Given the description of an element on the screen output the (x, y) to click on. 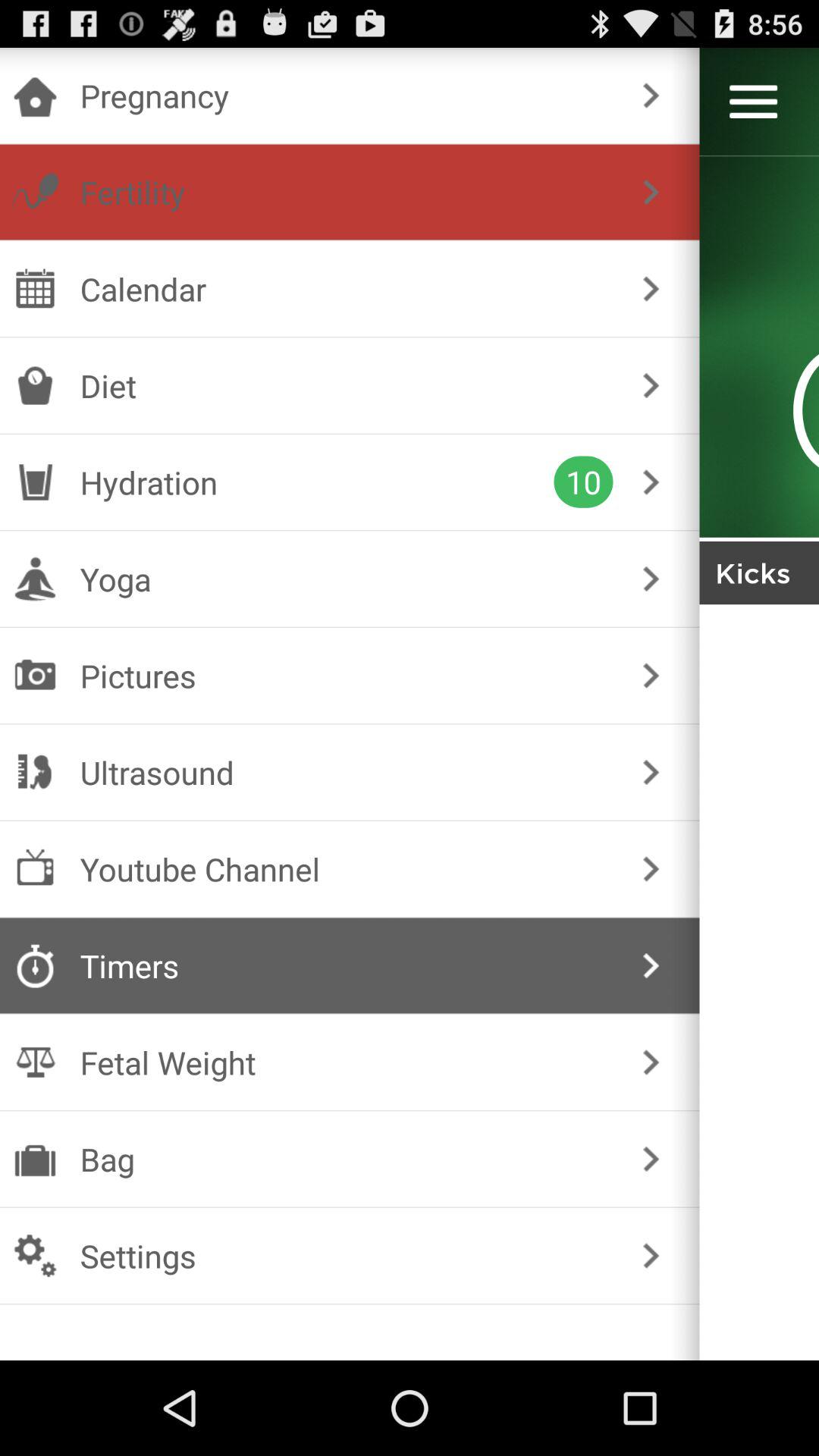
select checkbox above bag item (346, 1062)
